Given the description of an element on the screen output the (x, y) to click on. 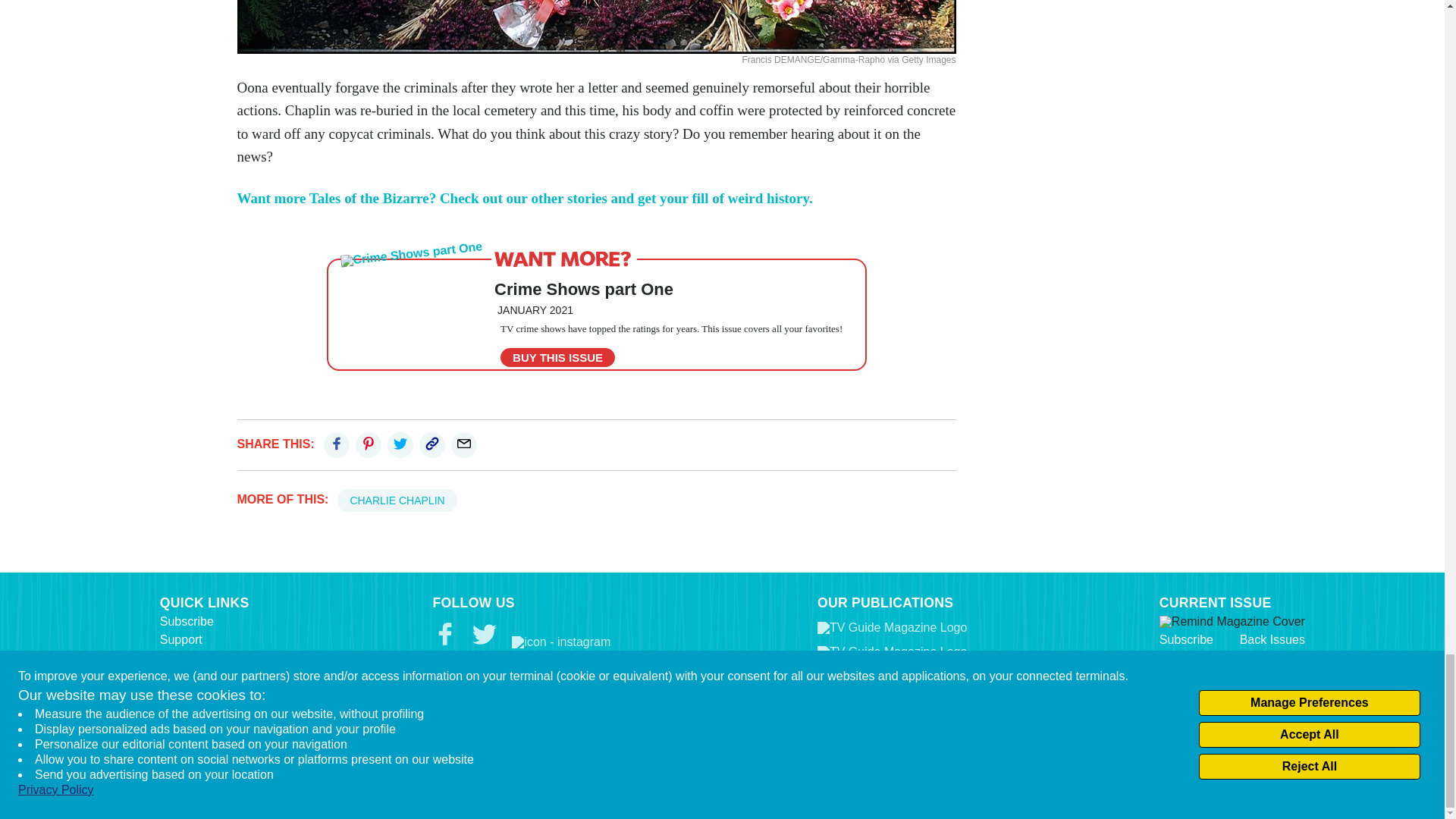
CHARLIE CHAPLIN (397, 499)
Crime Shows part One (583, 289)
Sign Up! (469, 772)
BUY THIS ISSUE (557, 357)
